Given the description of an element on the screen output the (x, y) to click on. 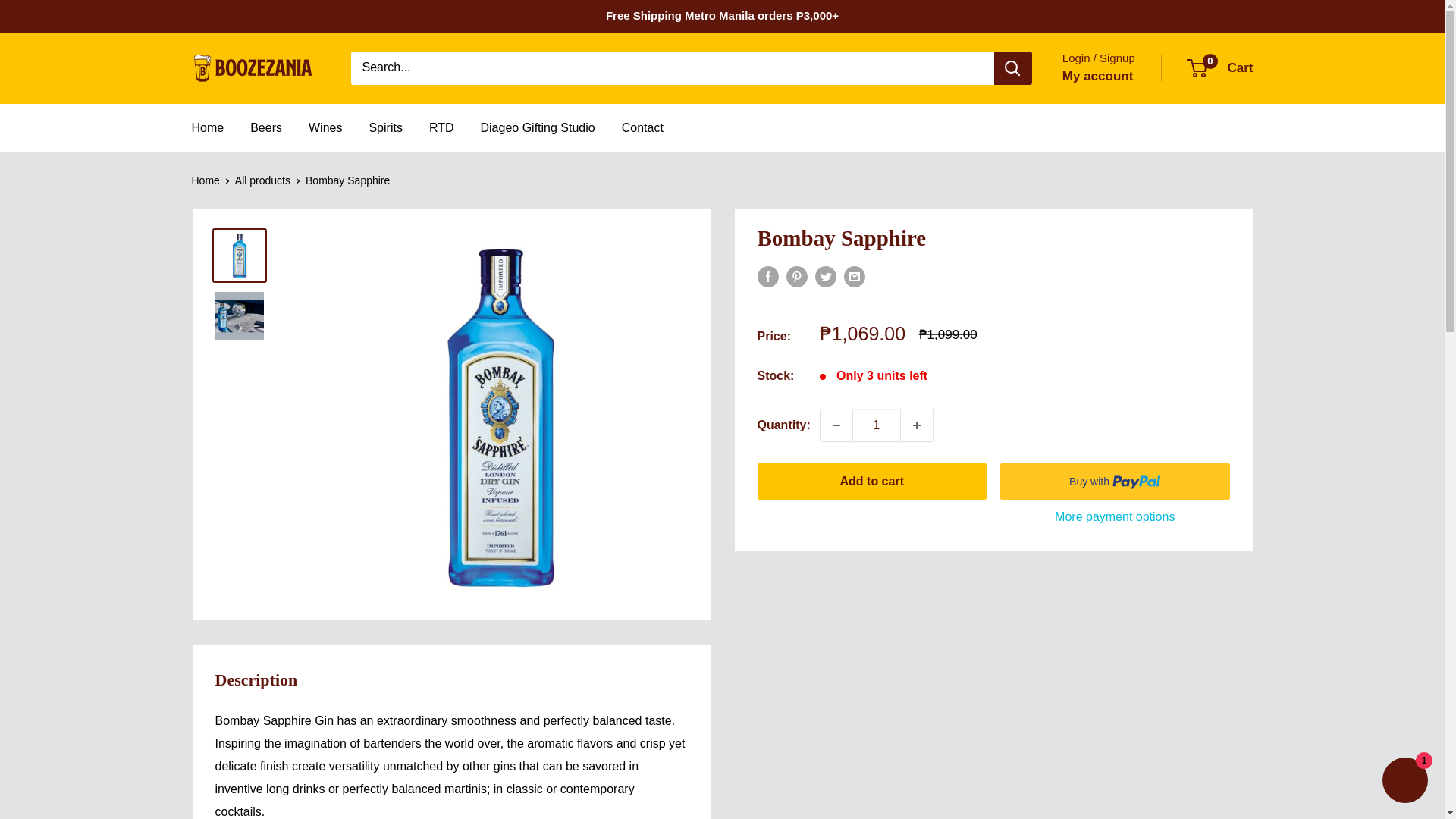
Diageo Gifting Studio (537, 128)
Shopify online store chat (1404, 781)
BoozeZania (255, 67)
Home (207, 128)
All products (261, 180)
1 (876, 425)
Wines (325, 128)
Home (1220, 68)
Decrease quantity by 1 (204, 180)
Contact (836, 425)
Beers (642, 128)
Spirits (266, 128)
RTD (384, 128)
Increase quantity by 1 (441, 128)
